Given the description of an element on the screen output the (x, y) to click on. 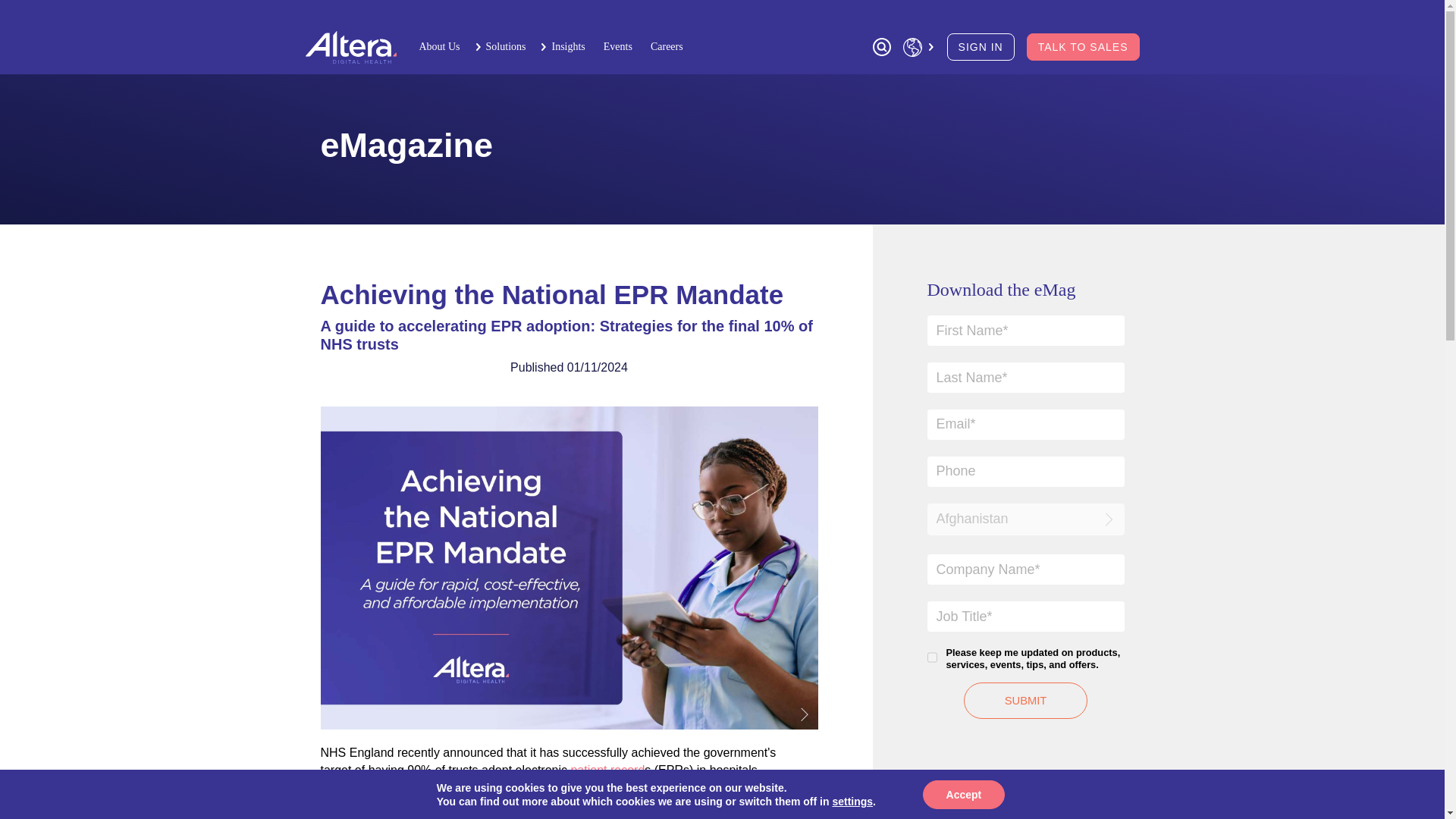
About Us (440, 46)
Solutions (503, 46)
Submit (1025, 700)
Careers (662, 46)
Events (619, 46)
Insights (565, 46)
